Given the description of an element on the screen output the (x, y) to click on. 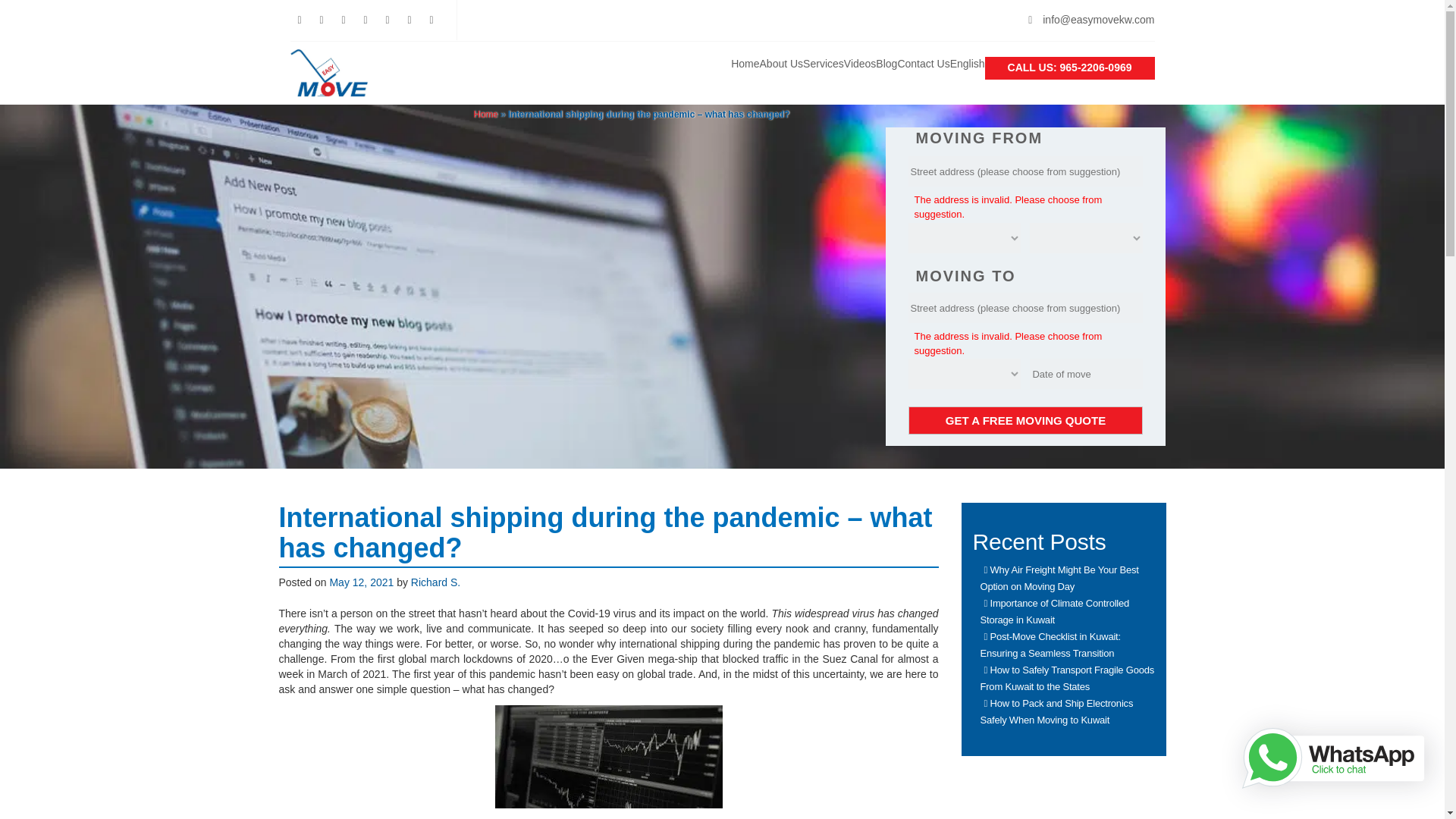
GET A FREE MOVING QUOTE (1025, 420)
Contact Us (922, 64)
CALL US: 965-2206-0969 (1069, 68)
Videos (860, 64)
Home (744, 64)
English (967, 64)
English (967, 64)
About Us (781, 64)
Services (823, 64)
Home (485, 113)
Blog (886, 64)
Richard S. (435, 582)
May 12, 2021 (361, 582)
